Given the description of an element on the screen output the (x, y) to click on. 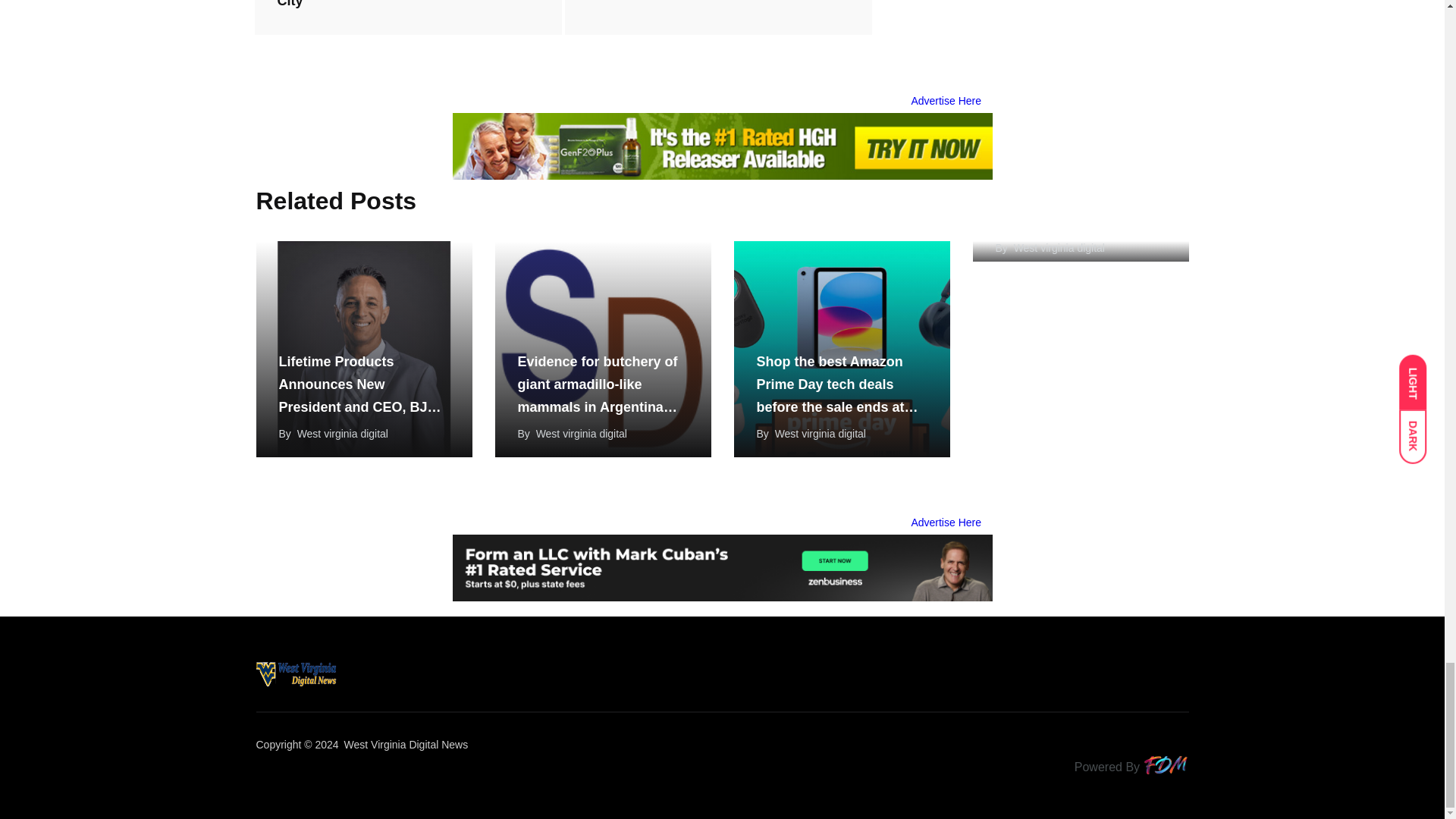
Posts by West virginia digital (581, 433)
Posts by West virginia digital (820, 433)
Posts by West virginia digital (342, 433)
Lifetime Products Announces New President and CEO, BJ Haacke (363, 348)
Posts by West virginia digital (1059, 247)
